Given the description of an element on the screen output the (x, y) to click on. 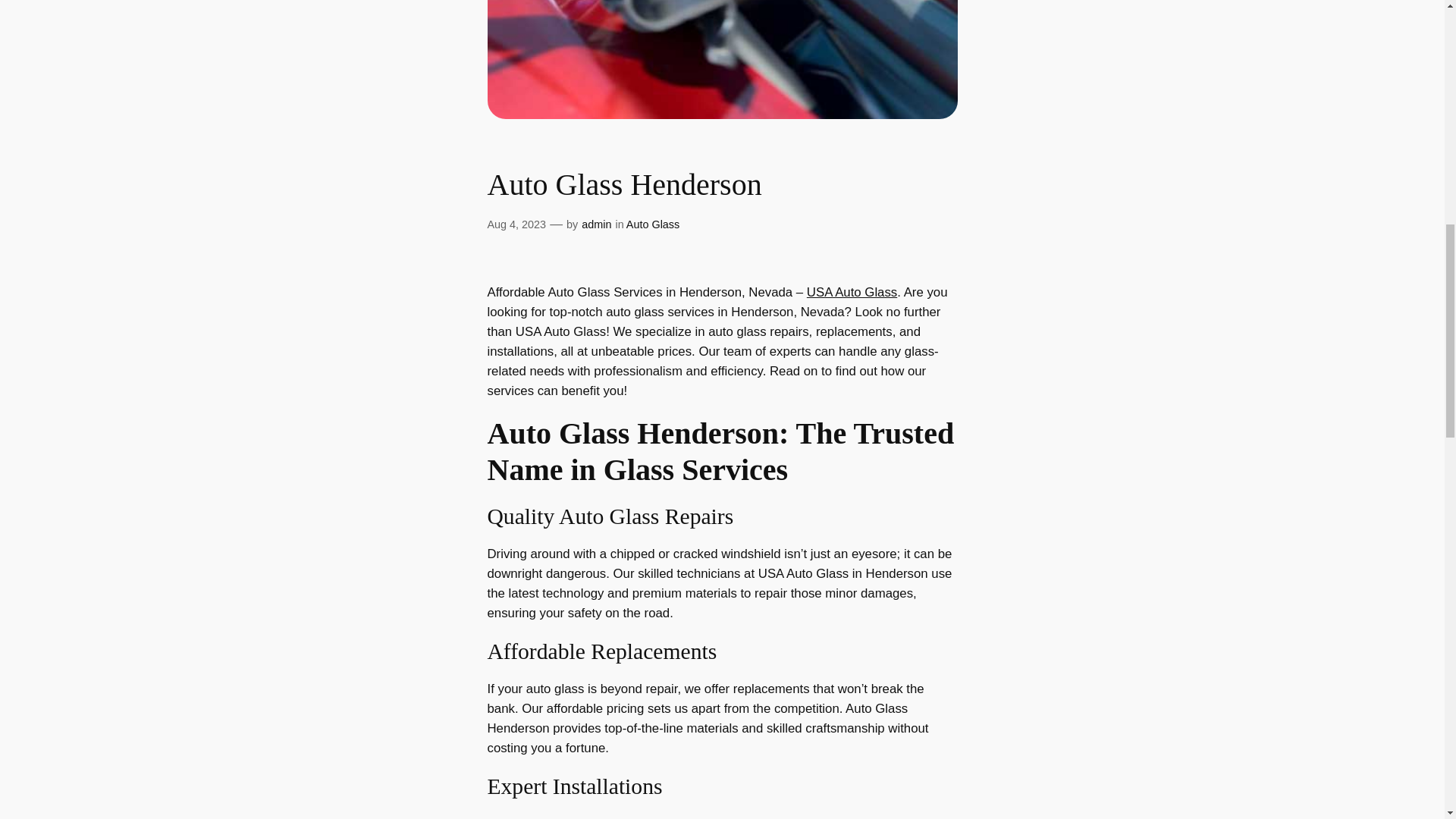
admin (595, 224)
Aug 4, 2023 (516, 224)
Auto Glass (652, 224)
USA Auto Glass (851, 292)
